Given the description of an element on the screen output the (x, y) to click on. 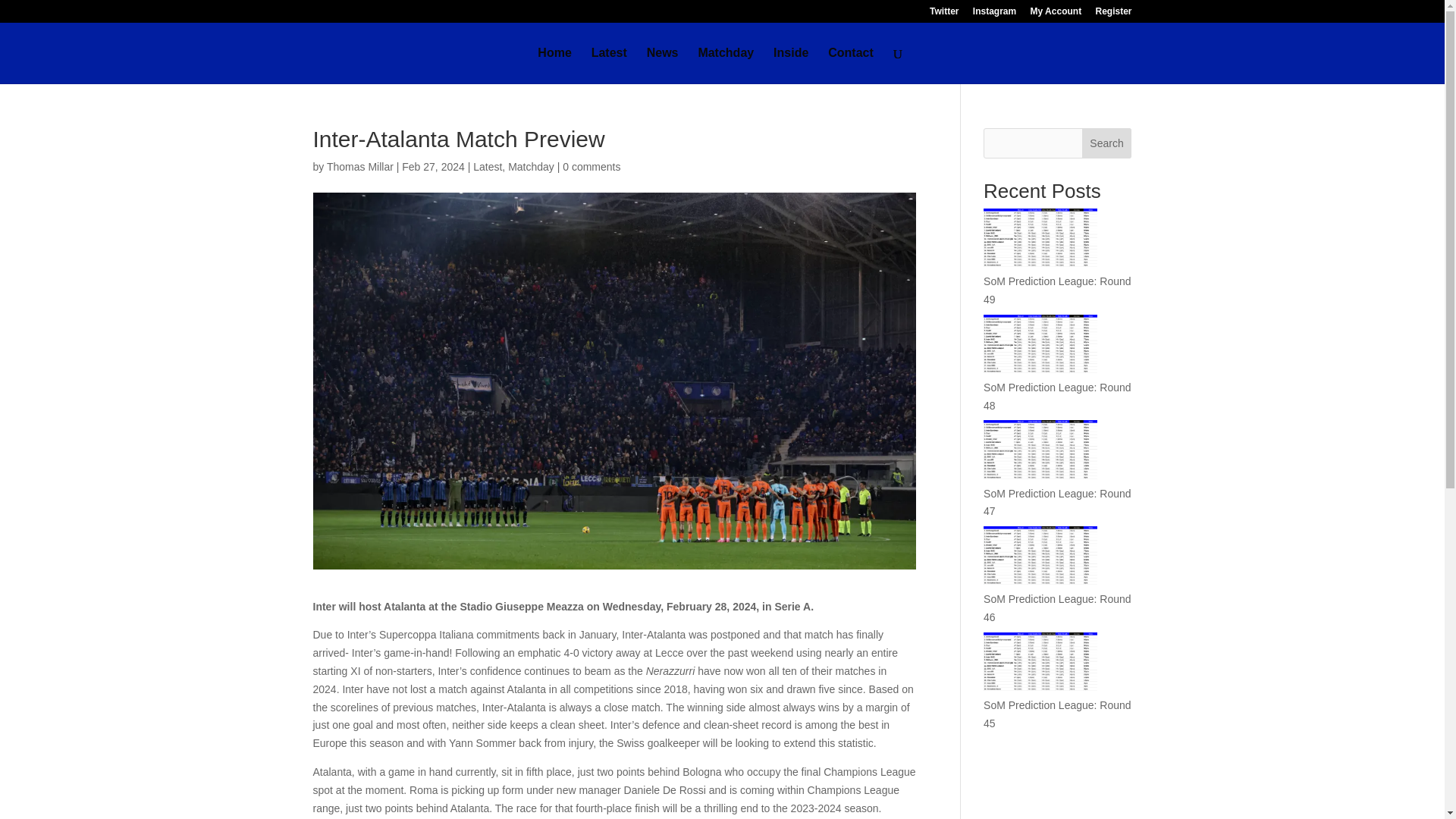
Contact (850, 65)
My Account (1055, 14)
Instagram (994, 14)
Search (1106, 142)
Twitter (944, 14)
News (662, 65)
SoM Prediction League: Round 46 (1057, 607)
0 comments (591, 166)
Thomas Millar (359, 166)
SoM Prediction League: Round 45 (1057, 714)
